Given the description of an element on the screen output the (x, y) to click on. 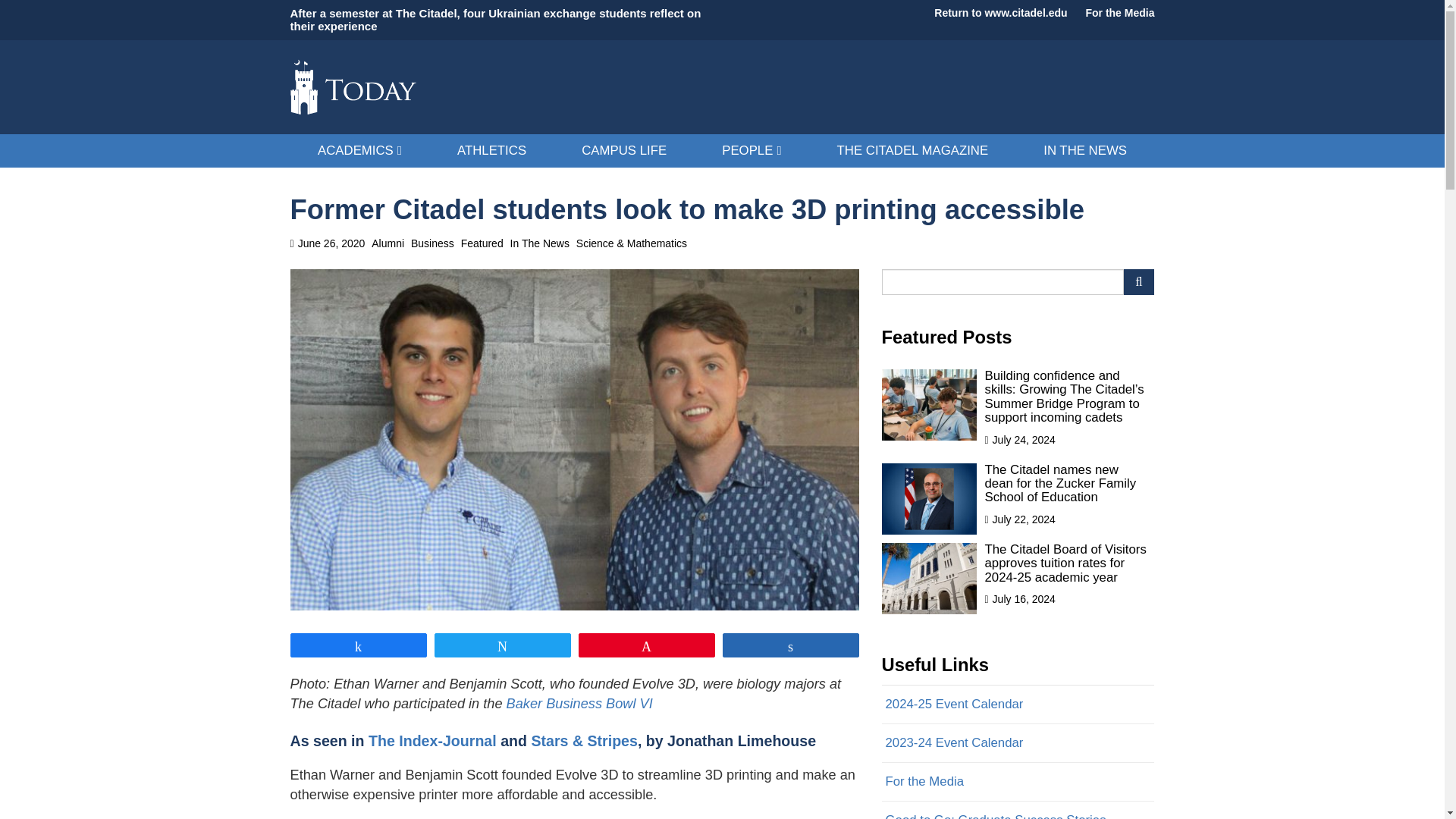
Featured (482, 243)
CAMPUS LIFE (624, 150)
June 26, 2020 (327, 243)
Return to www.citadel.edu (1000, 13)
THE CITADEL MAGAZINE (912, 150)
In The News (540, 243)
Alumni (387, 243)
Business (432, 243)
For the Media (1119, 13)
IN THE NEWS (1085, 150)
ACADEMICS (359, 150)
ATHLETICS (491, 150)
PEOPLE (751, 150)
